Given the description of an element on the screen output the (x, y) to click on. 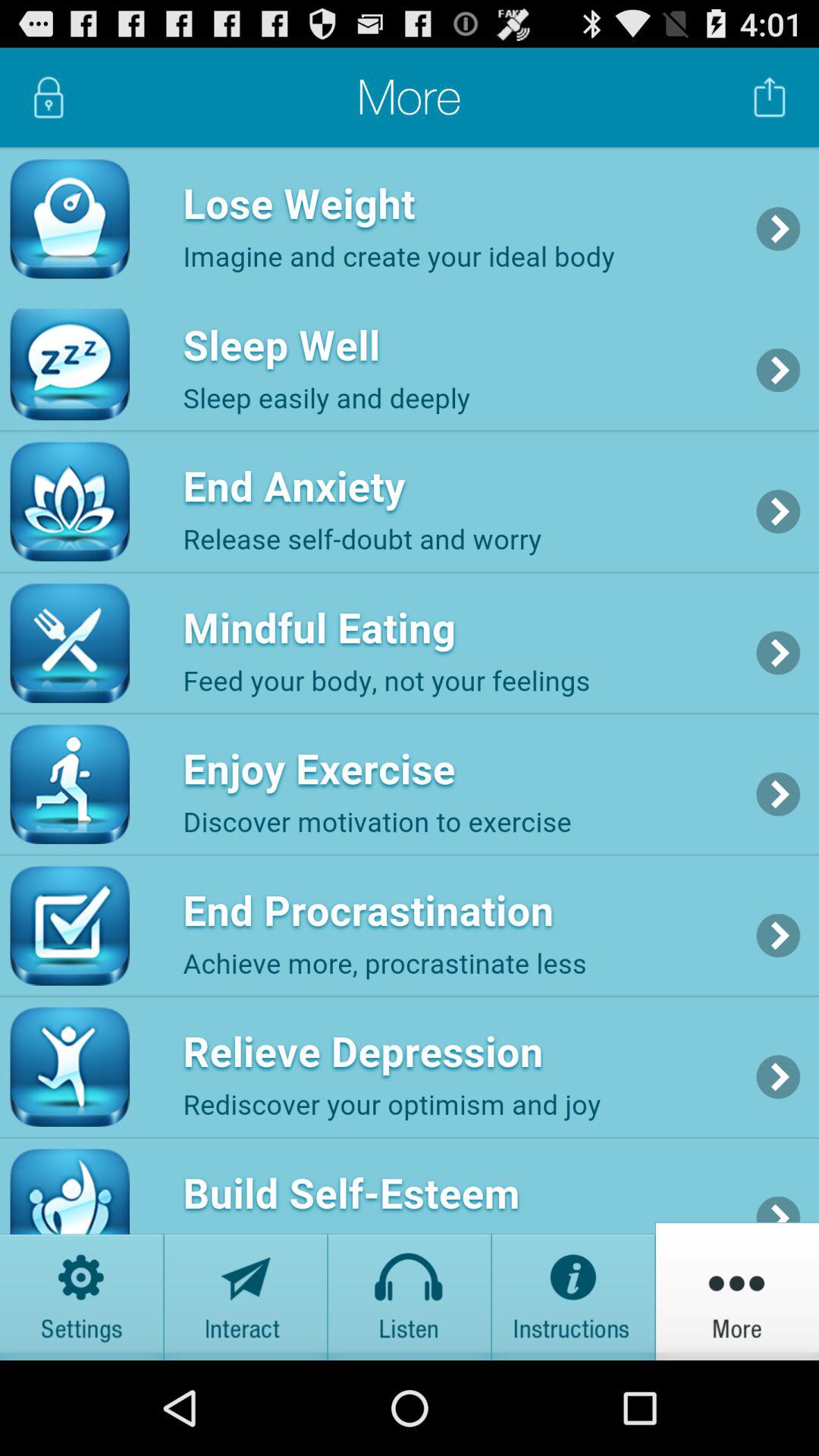
cog wheel button is settings (81, 1290)
